Given the description of an element on the screen output the (x, y) to click on. 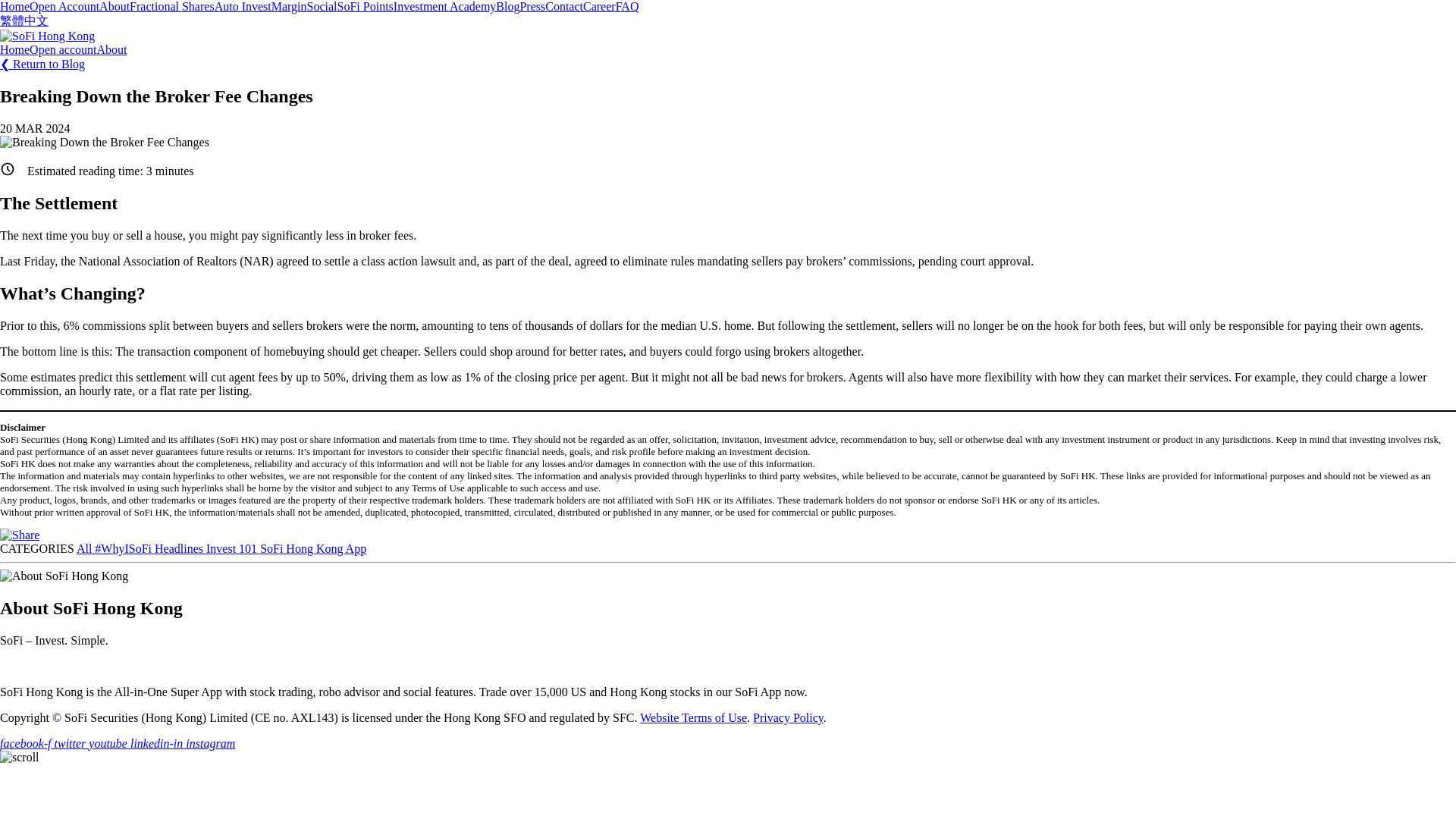
Home (14, 49)
Home (14, 6)
youtube (109, 743)
Open account (62, 49)
SoFi Points (365, 6)
Open Account (64, 6)
linkedin-in (158, 743)
About (112, 49)
Margin (288, 6)
Social (322, 6)
